Given the description of an element on the screen output the (x, y) to click on. 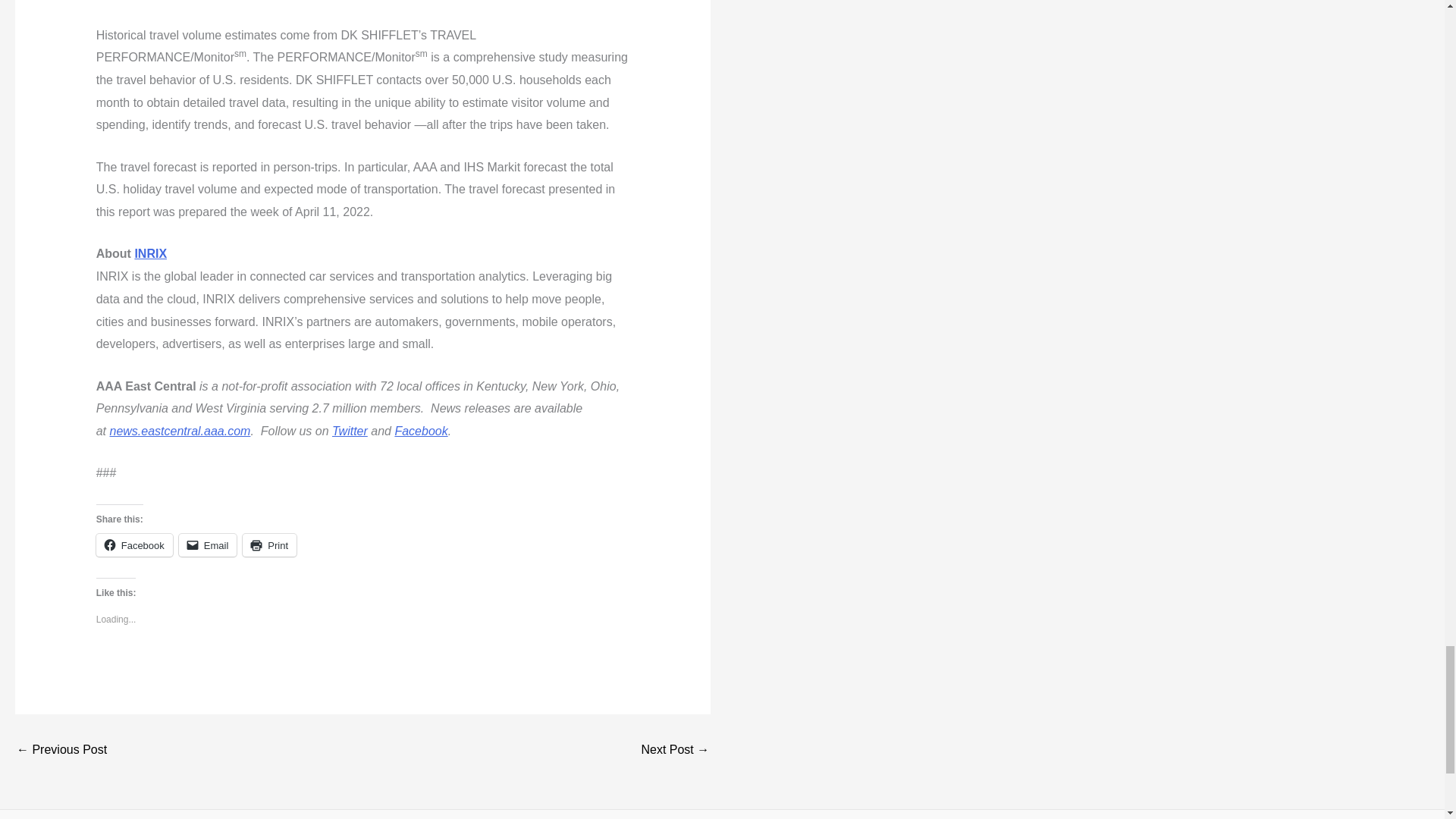
Click to print (270, 544)
Click to share on Facebook (134, 544)
Click to email a link to a friend (208, 544)
